Given the description of an element on the screen output the (x, y) to click on. 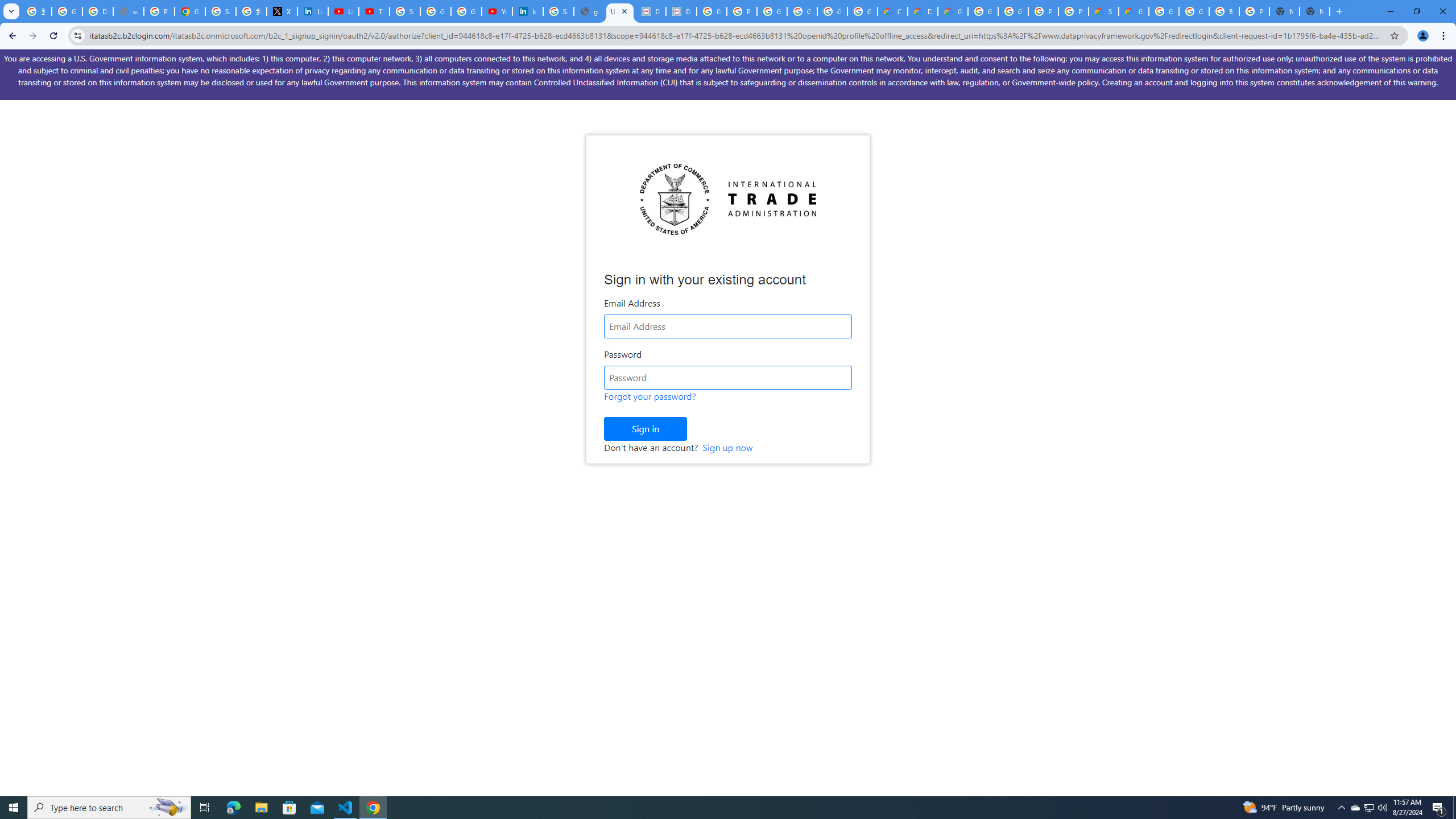
Google Workspace - Specific Terms (832, 11)
Sign up now (726, 446)
LinkedIn - YouTube (343, 11)
google_privacy_policy_en.pdf (589, 11)
Google Cloud Platform (1193, 11)
